Given the description of an element on the screen output the (x, y) to click on. 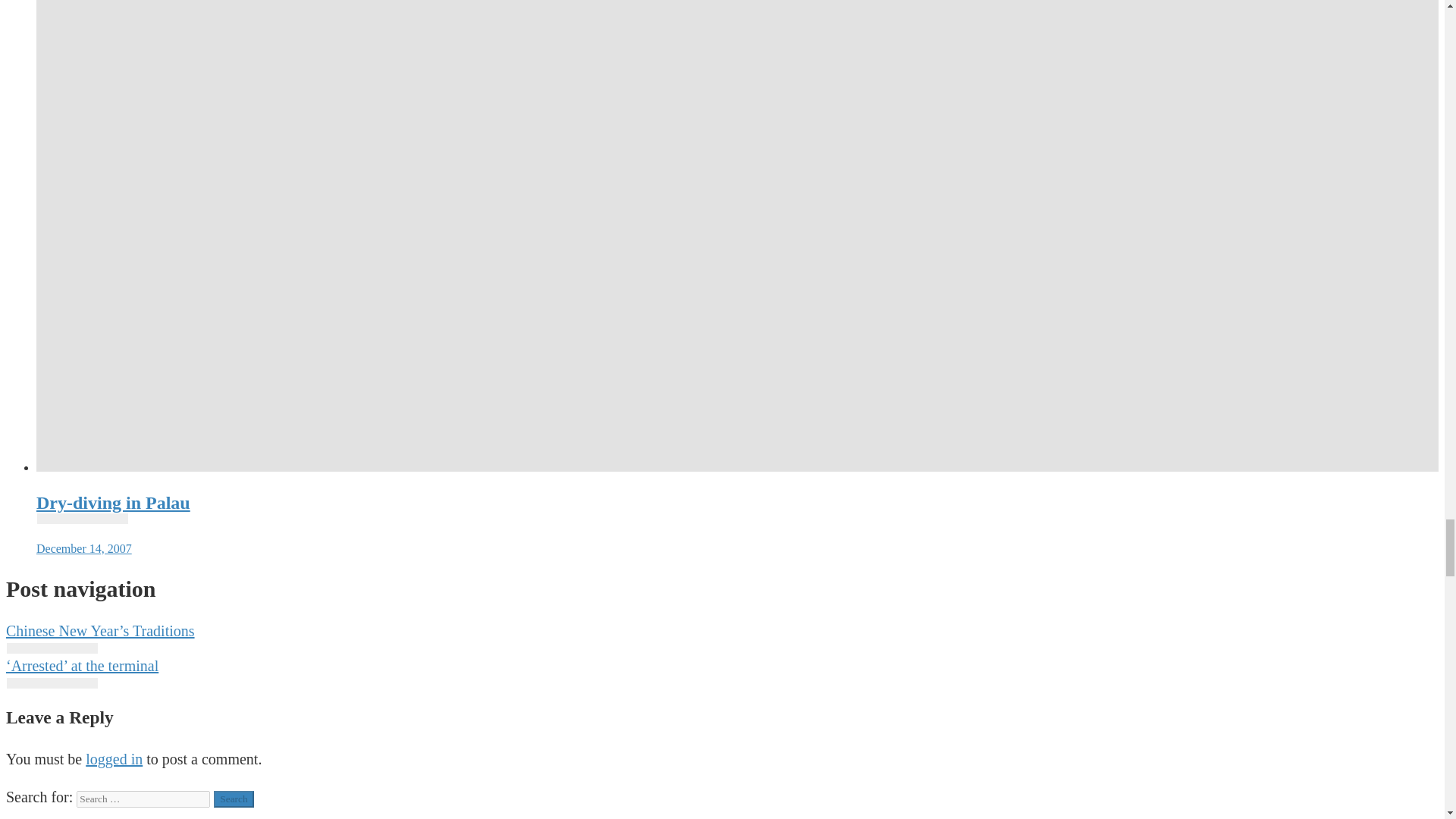
Search (233, 799)
Search (233, 799)
